Given the description of an element on the screen output the (x, y) to click on. 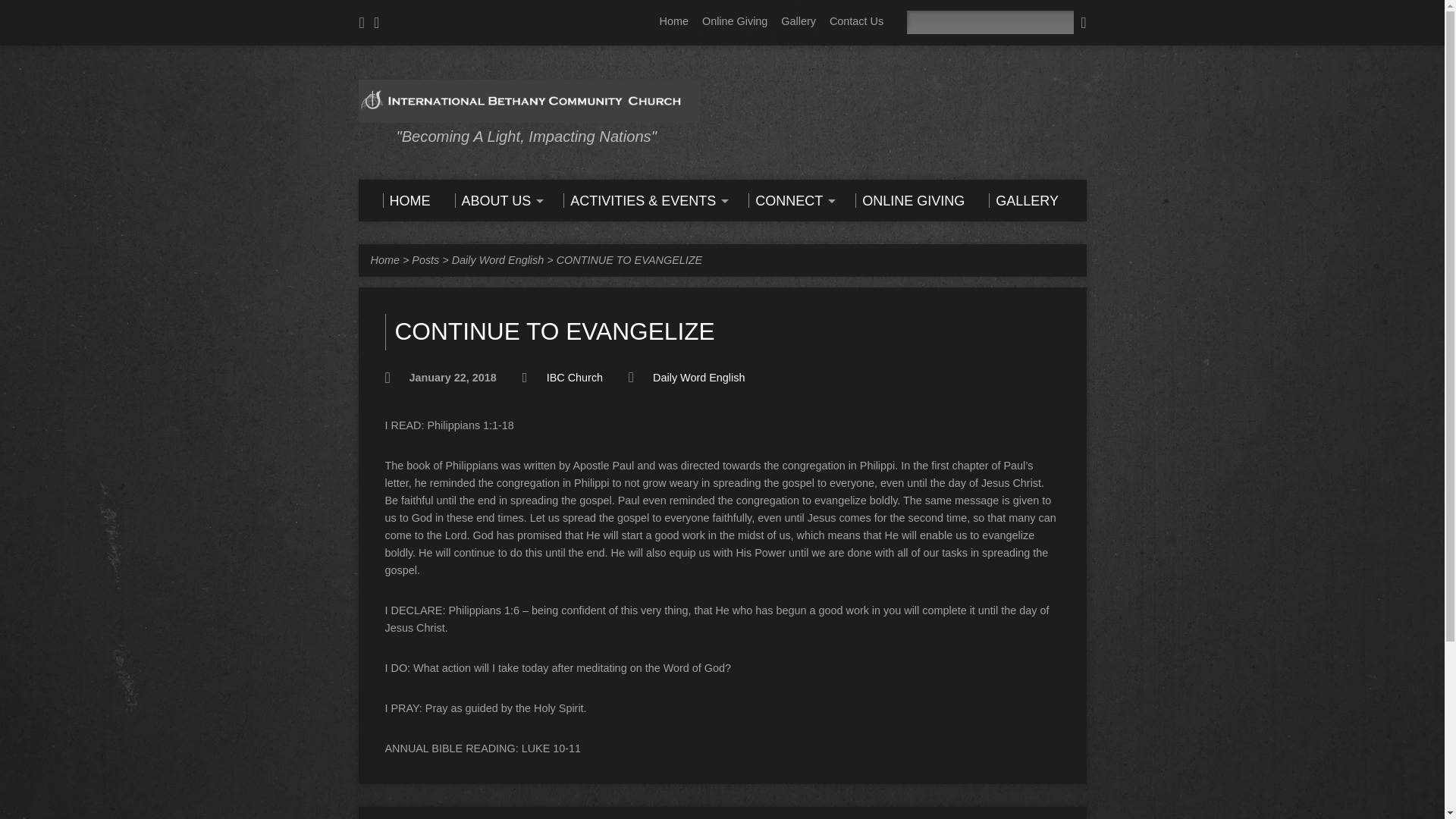
Posts (425, 259)
Gallery (797, 21)
Online Giving (734, 21)
HOME (405, 200)
Home (673, 21)
ABOUT US (497, 200)
Home (383, 259)
ONLINE GIVING (909, 200)
CONNECT (789, 200)
Contact Us (856, 21)
IBC Church (574, 377)
Daily Word English (497, 259)
GALLERY (1023, 200)
CONTINUE TO EVANGELIZE (628, 259)
